Given the description of an element on the screen output the (x, y) to click on. 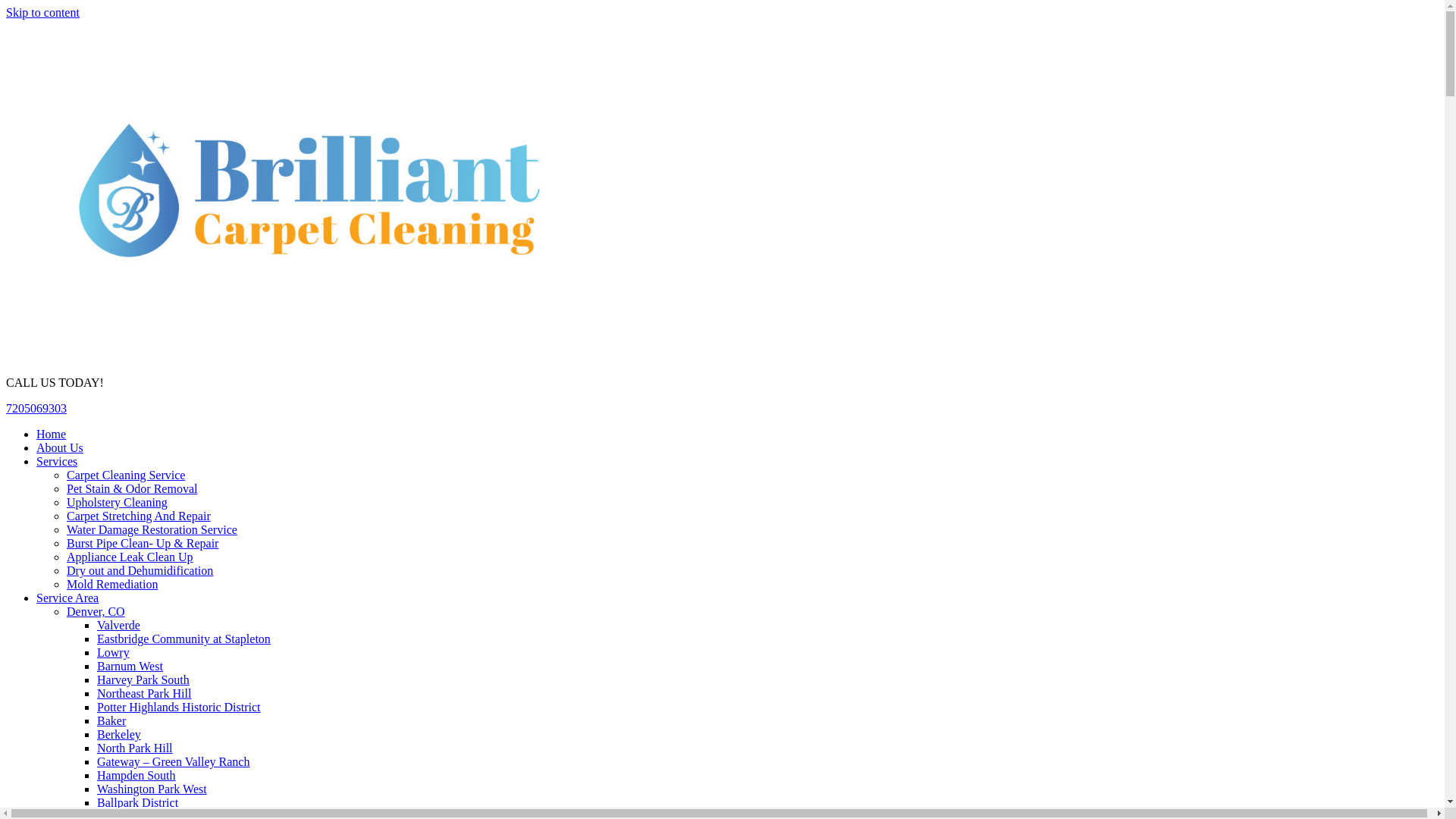
Eastbridge Community at Stapleton (183, 638)
Denver, CO (95, 611)
Skip to content (42, 11)
Barnum West (130, 666)
Carpet Cleaning Service (125, 474)
Lower Highland (136, 814)
Water Damage Restoration Service (151, 529)
Potter Highlands Historic District (178, 707)
Hampden South (136, 775)
Mold Remediation (111, 584)
